Given the description of an element on the screen output the (x, y) to click on. 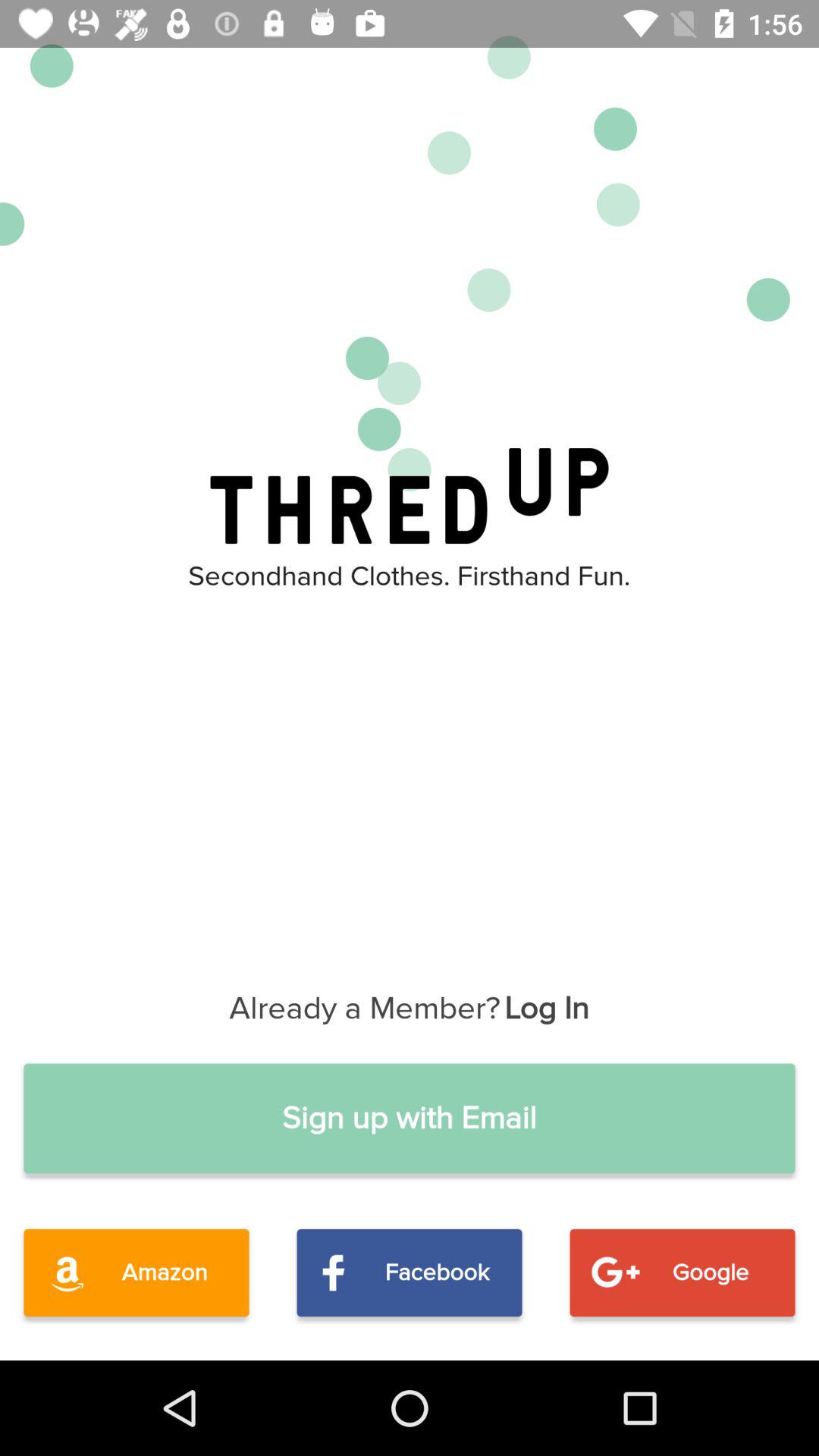
choose item below sign up with item (136, 1272)
